Given the description of an element on the screen output the (x, y) to click on. 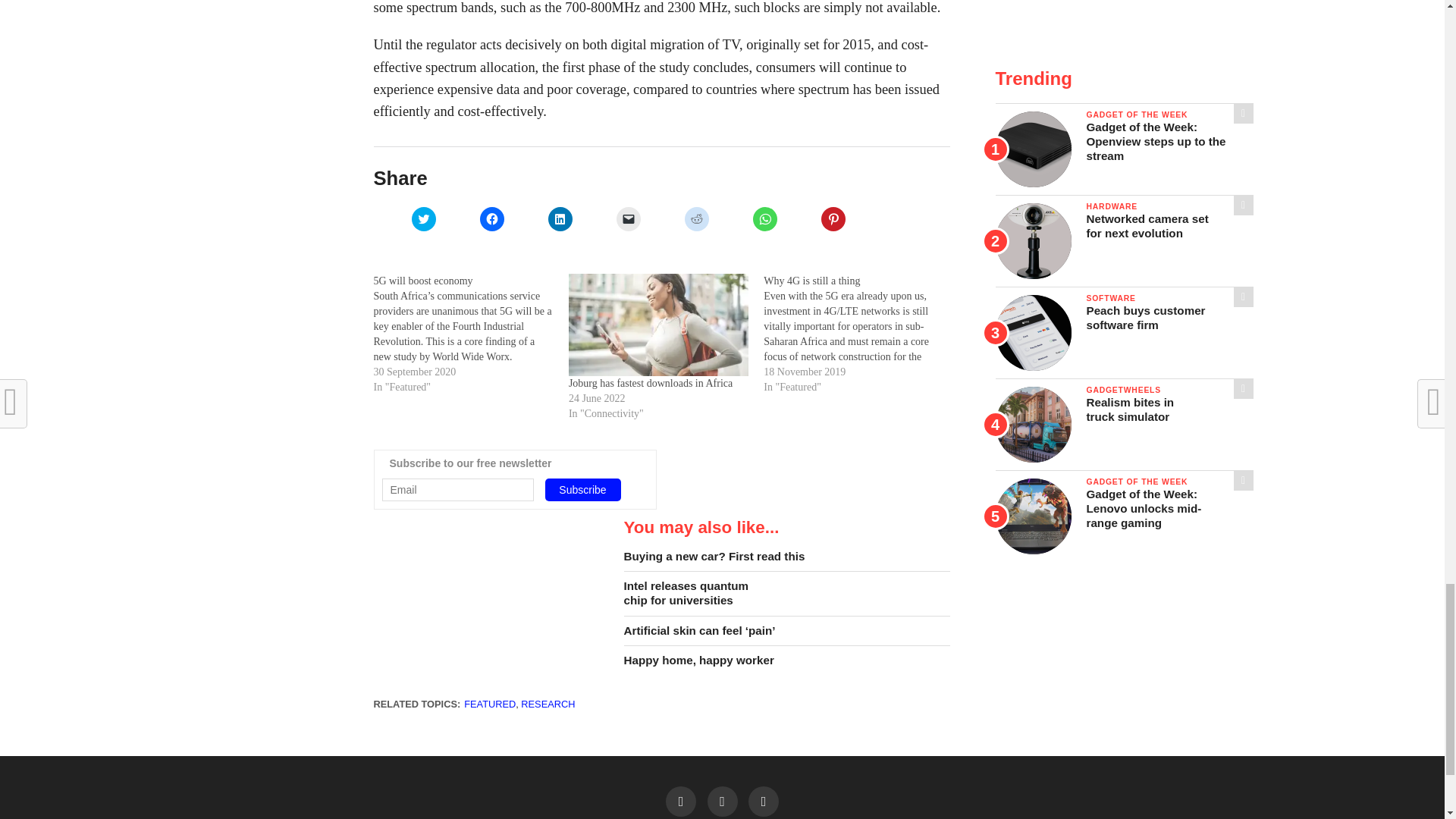
Click to email a link to a friend (627, 218)
Click to share on Twitter (422, 218)
Subscribe (582, 489)
Click to share on Facebook (491, 218)
Click to share on LinkedIn (559, 218)
